Given the description of an element on the screen output the (x, y) to click on. 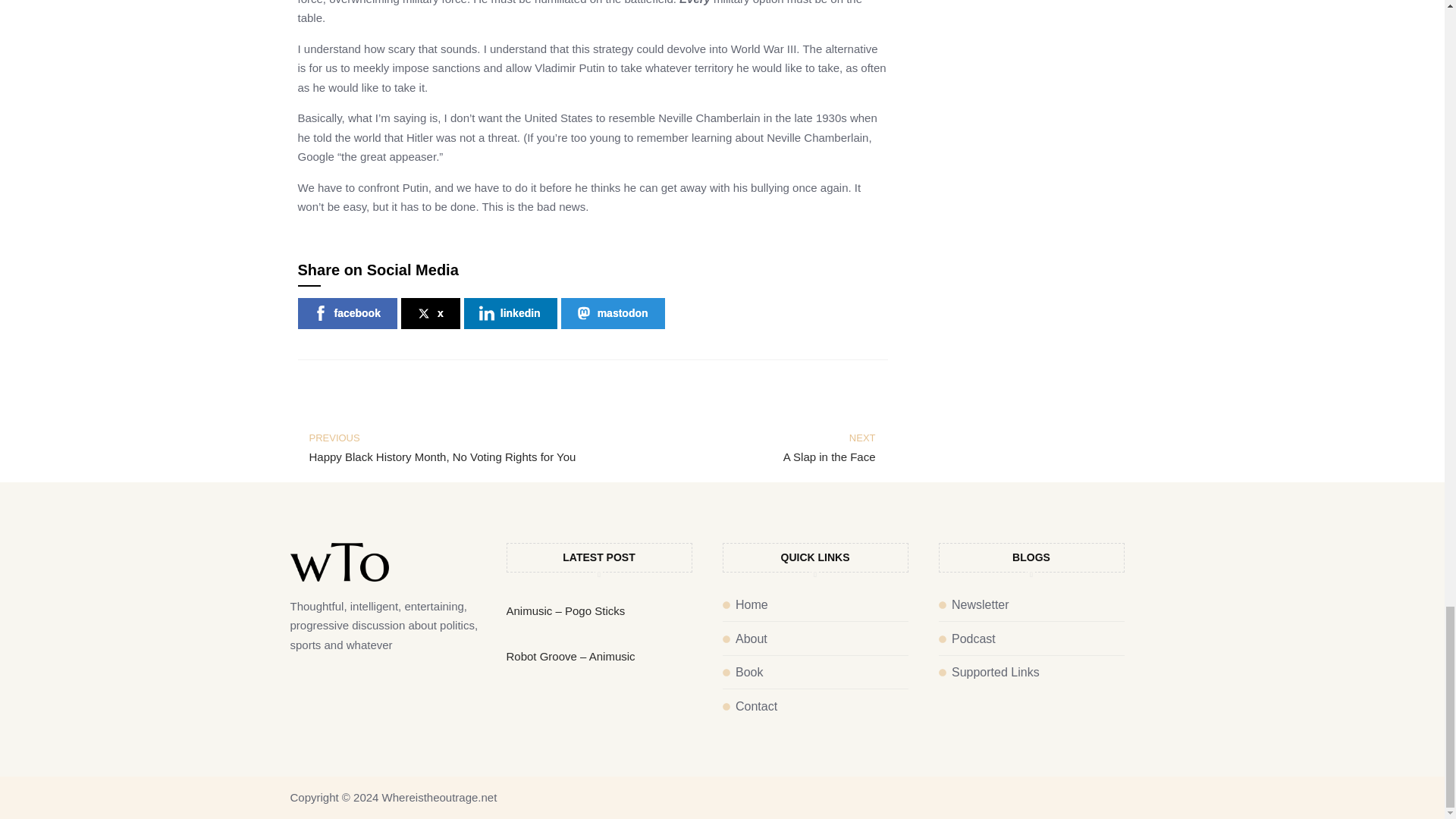
facebook (444, 447)
Book (346, 313)
Home (814, 672)
linkedin (814, 605)
x (510, 313)
About (430, 313)
mastodon (814, 639)
